Given the description of an element on the screen output the (x, y) to click on. 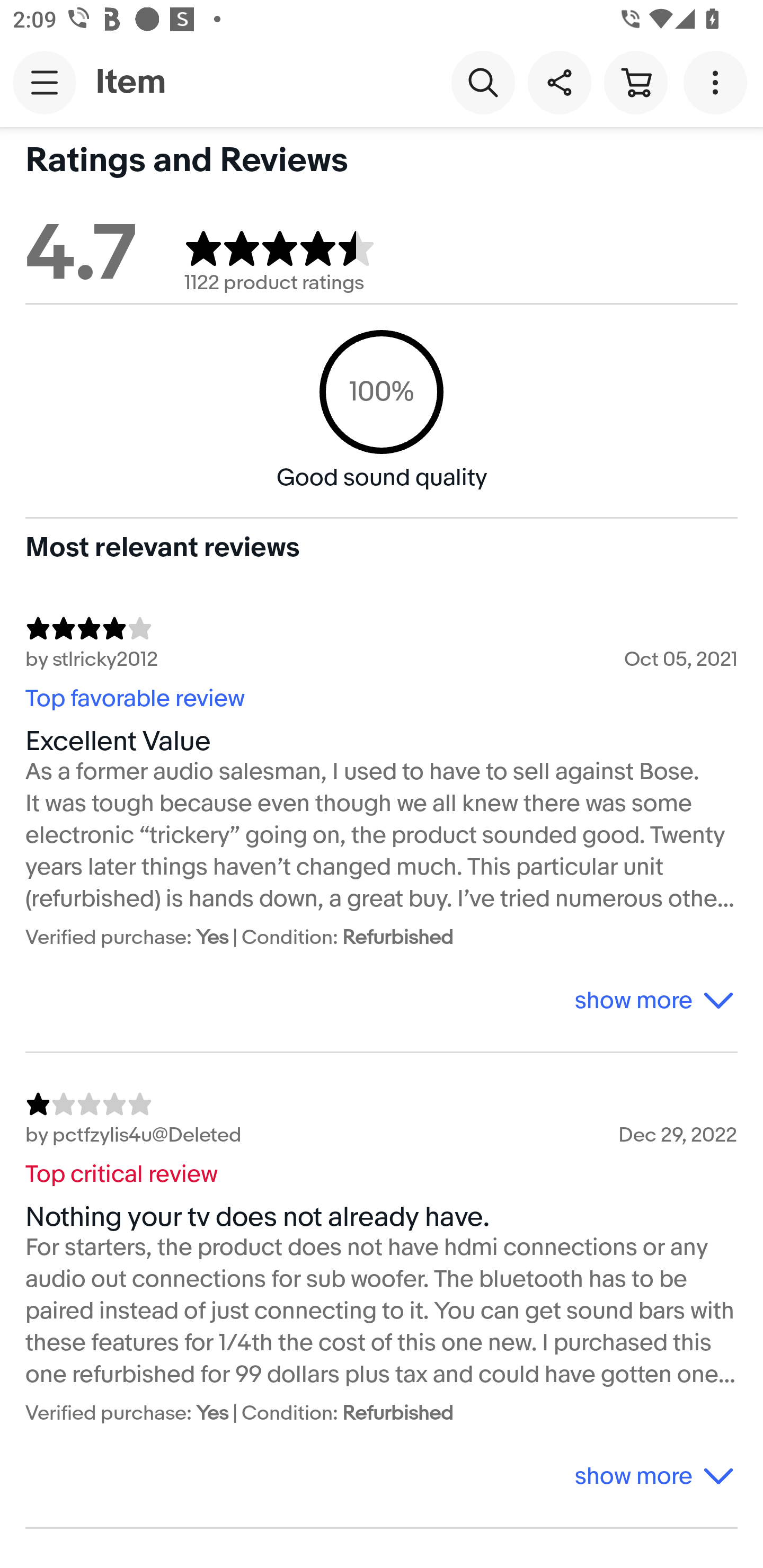
Main navigation, open (44, 82)
Search (482, 81)
Share this item (559, 81)
Cart button shopping cart (635, 81)
More options (718, 81)
